Given the description of an element on the screen output the (x, y) to click on. 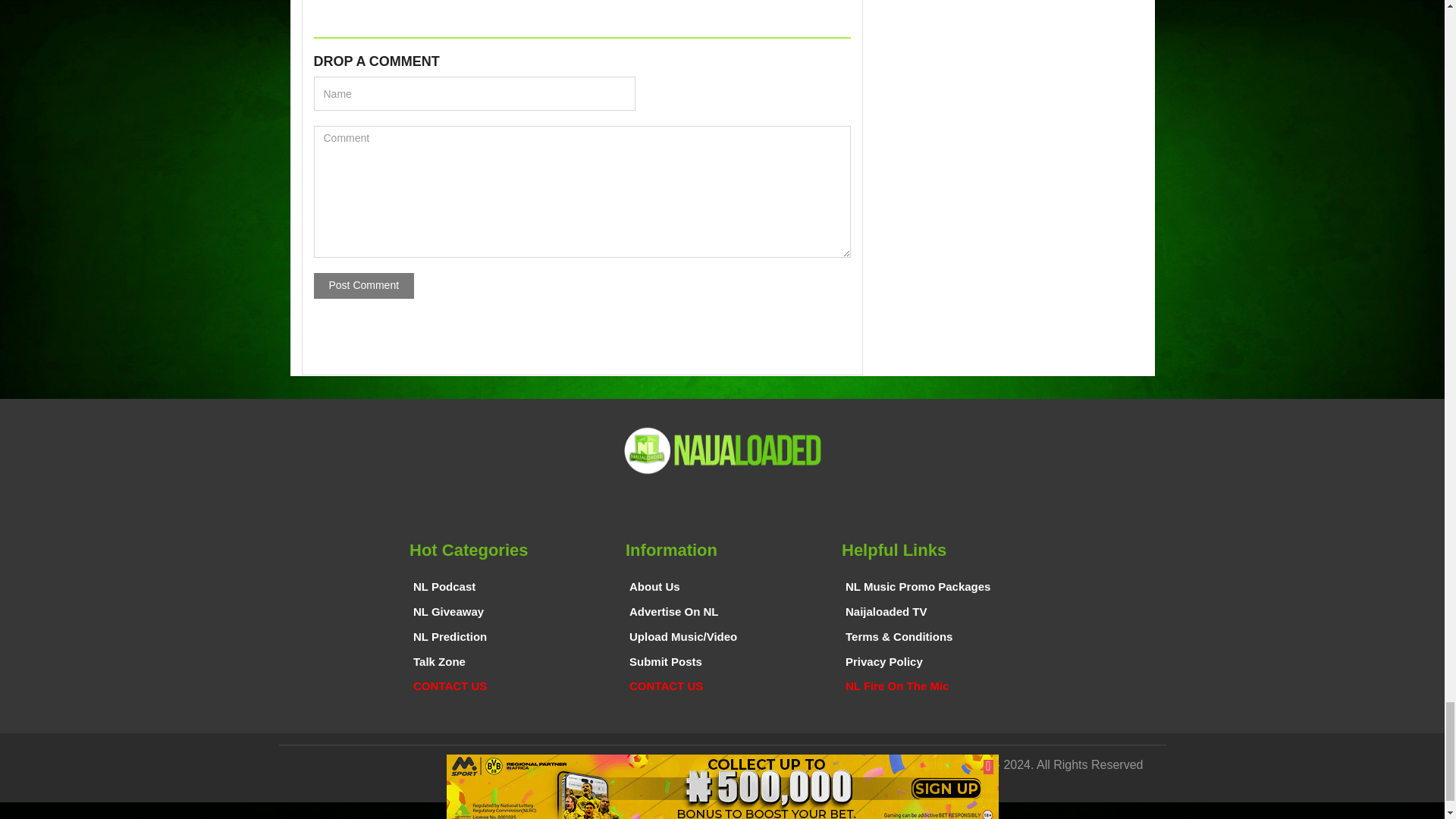
Post Comment (364, 285)
